Given the description of an element on the screen output the (x, y) to click on. 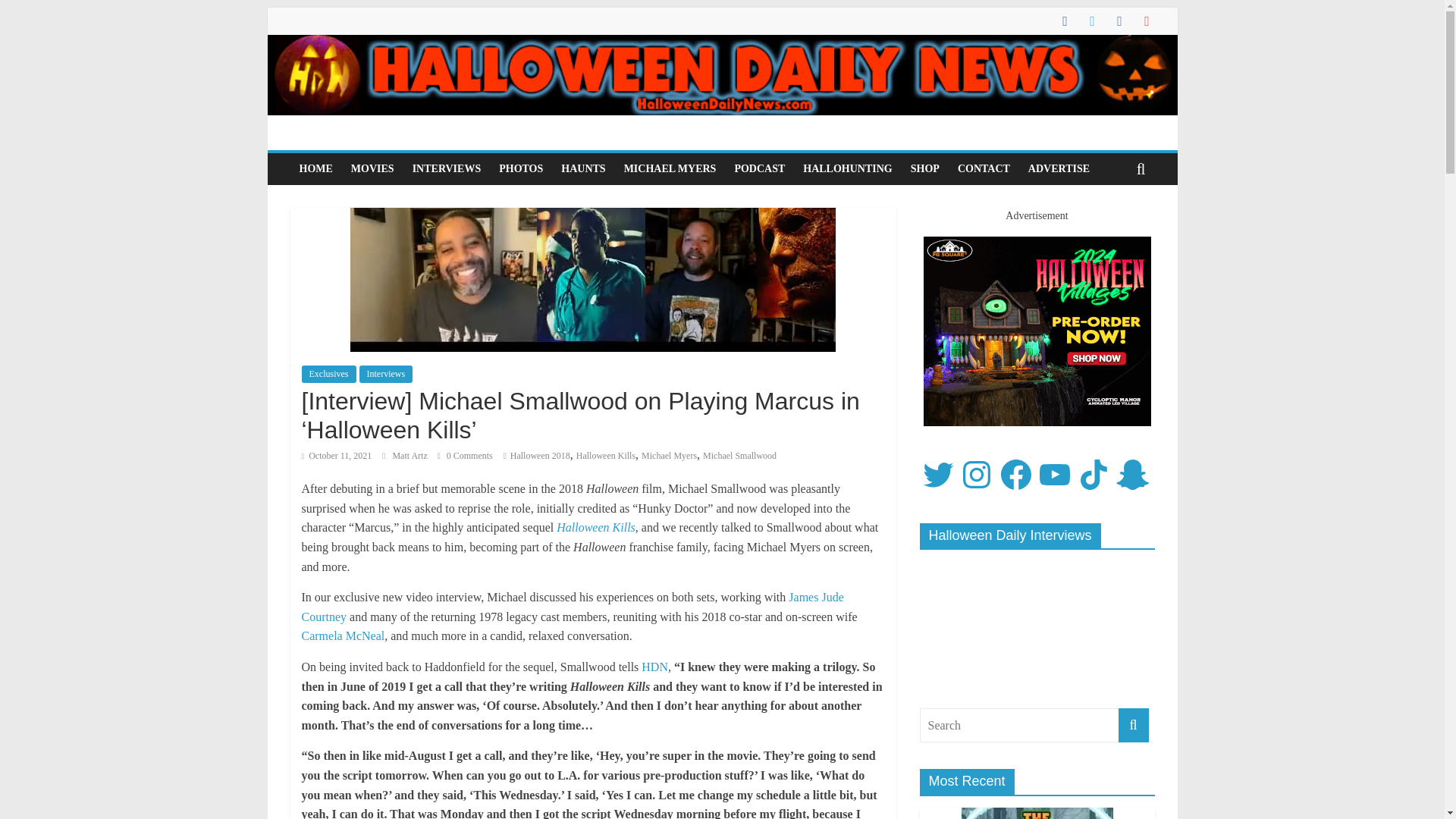
HALLOHUNTING (847, 169)
INTERVIEWS (446, 169)
Halloween Kills (605, 455)
CONTACT (984, 169)
October 11, 2021 (336, 455)
Halloween Daily News (721, 43)
ADVERTISE (1059, 169)
3:33 pm (336, 455)
HDN (655, 666)
SHOP (925, 169)
PHOTOS (520, 169)
Exclusives (328, 373)
MOVIES (372, 169)
HAUNTS (582, 169)
